Given the description of an element on the screen output the (x, y) to click on. 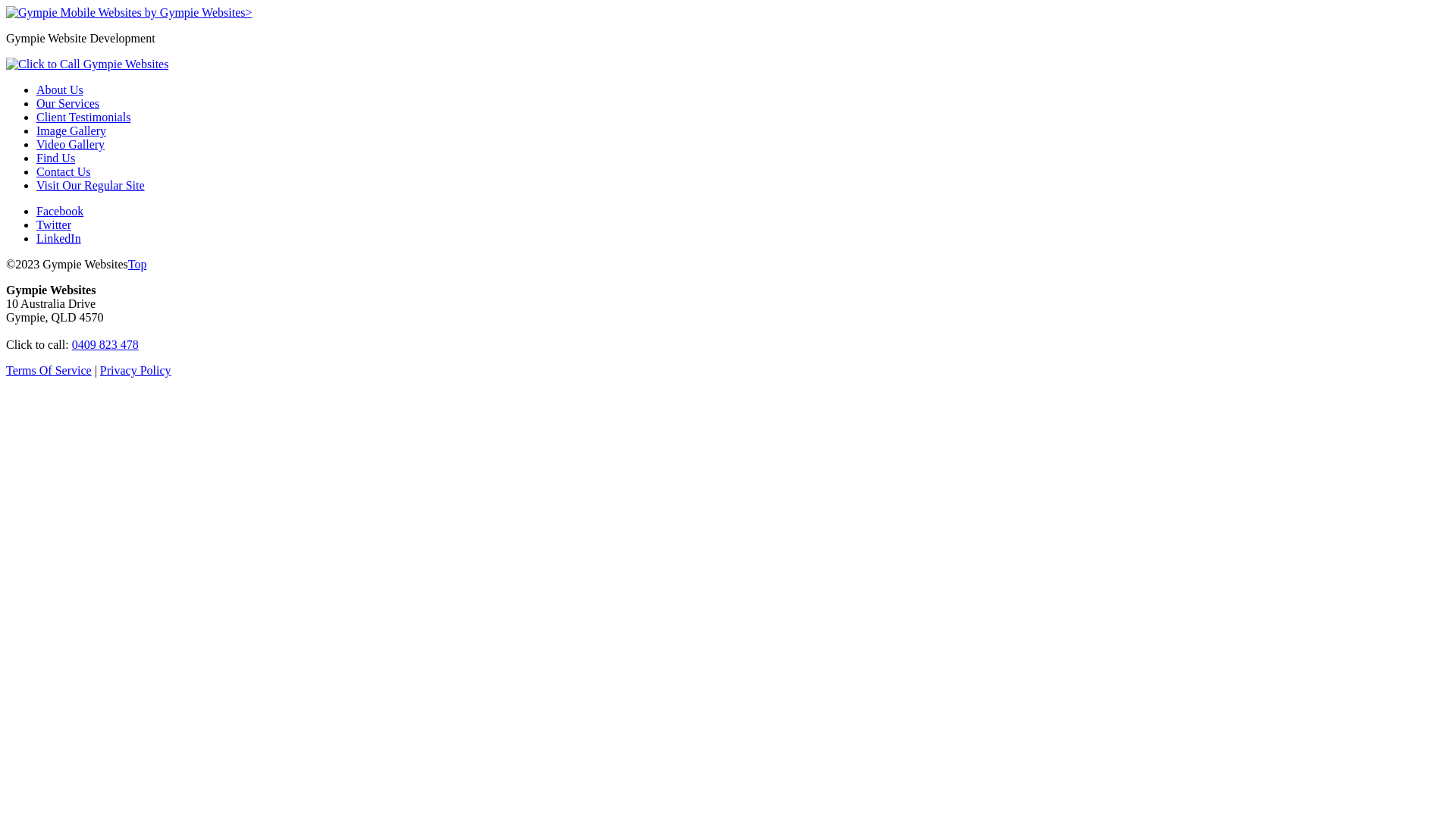
Twitter Element type: text (53, 224)
0409 823 478 Element type: text (105, 344)
Terms Of Service Element type: text (48, 370)
Contact Us Element type: text (63, 171)
Client Testimonials Element type: text (83, 116)
Find Us Element type: text (55, 157)
Top Element type: text (137, 263)
Visit Our Regular Site Element type: text (90, 184)
LinkedIn Element type: text (58, 238)
Facebook Element type: text (59, 210)
About Us Element type: text (59, 89)
Video Gallery Element type: text (70, 144)
Our Services Element type: text (67, 103)
Privacy Policy Element type: text (135, 370)
Image Gallery Element type: text (71, 130)
